Given the description of an element on the screen output the (x, y) to click on. 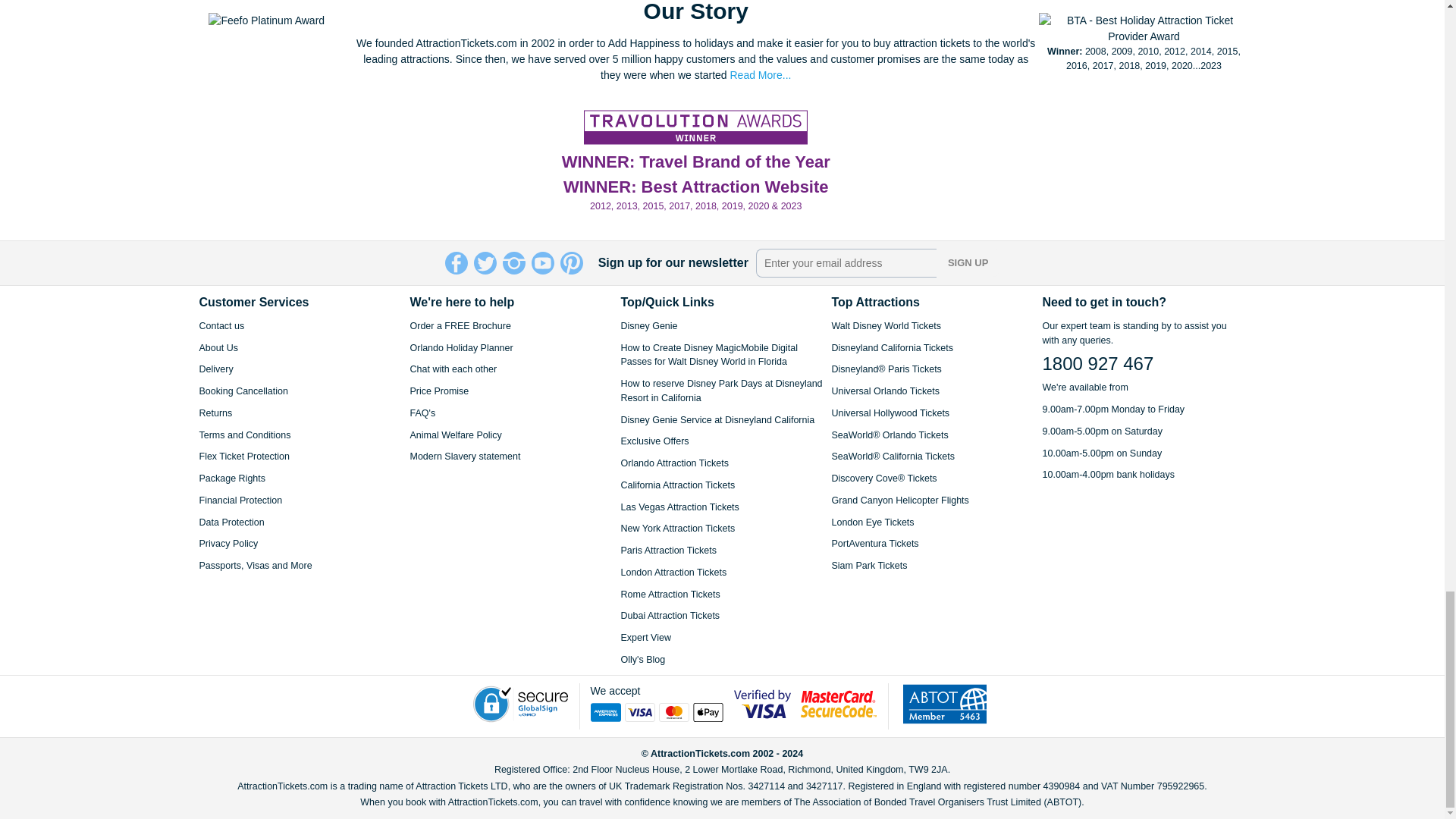
SIGN UP (967, 262)
